Given the description of an element on the screen output the (x, y) to click on. 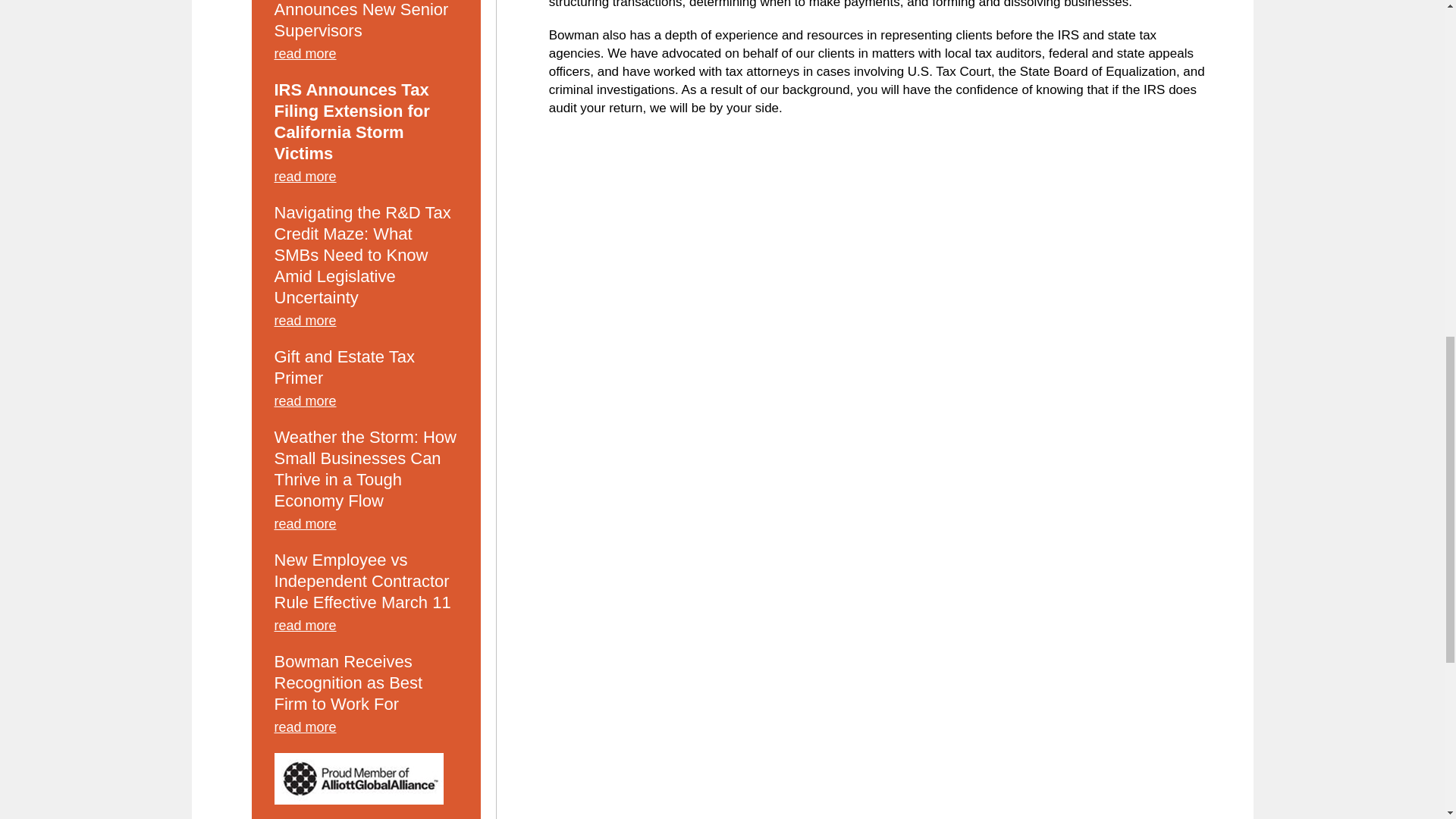
read more (366, 179)
read more (366, 56)
read more (366, 729)
read more (366, 628)
read more (366, 323)
read more (366, 526)
read more (366, 404)
